Given the description of an element on the screen output the (x, y) to click on. 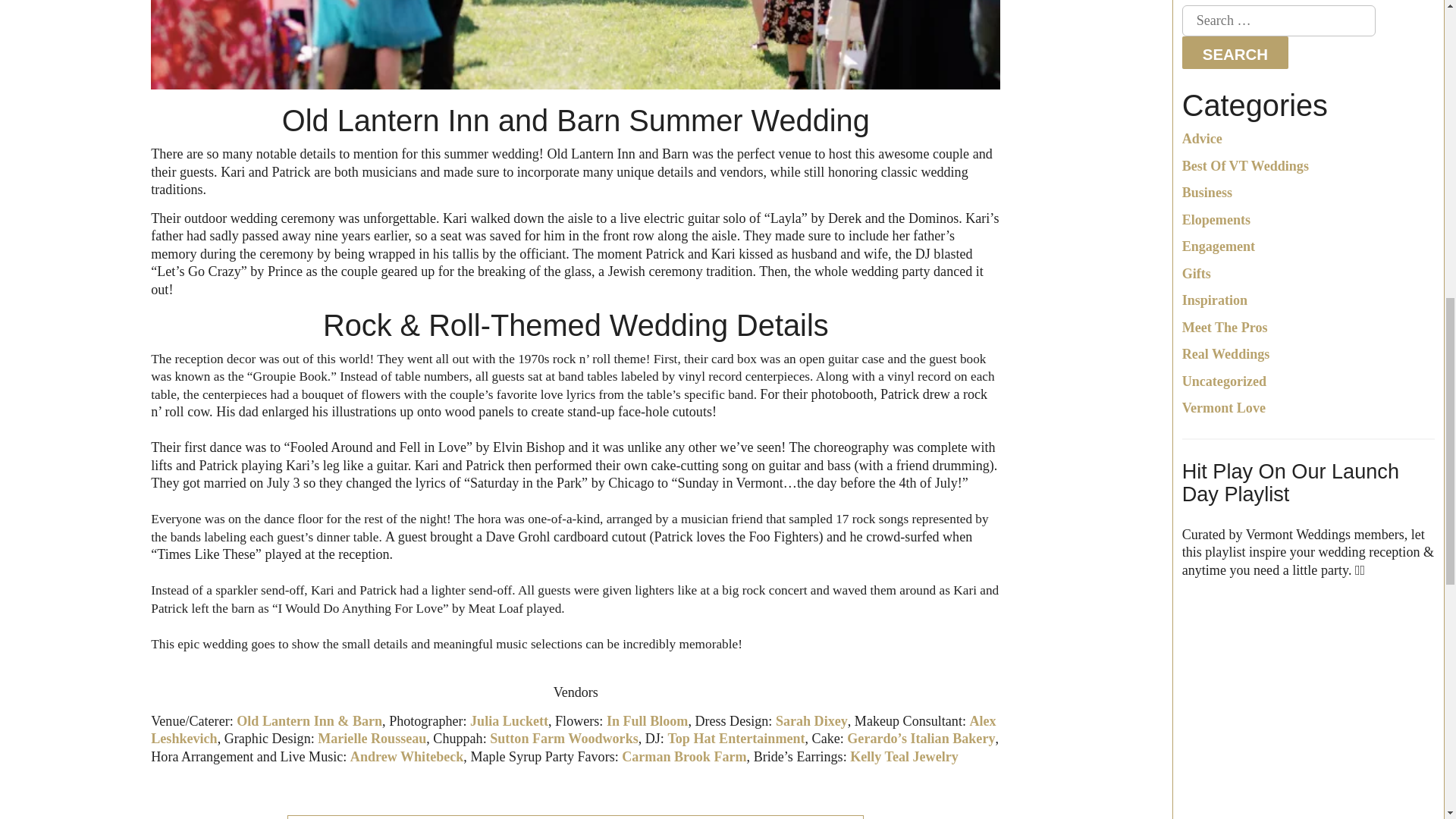
Spotify Embed: Our Members Favorites (1308, 709)
Search (1235, 52)
Search (1235, 52)
